Given the description of an element on the screen output the (x, y) to click on. 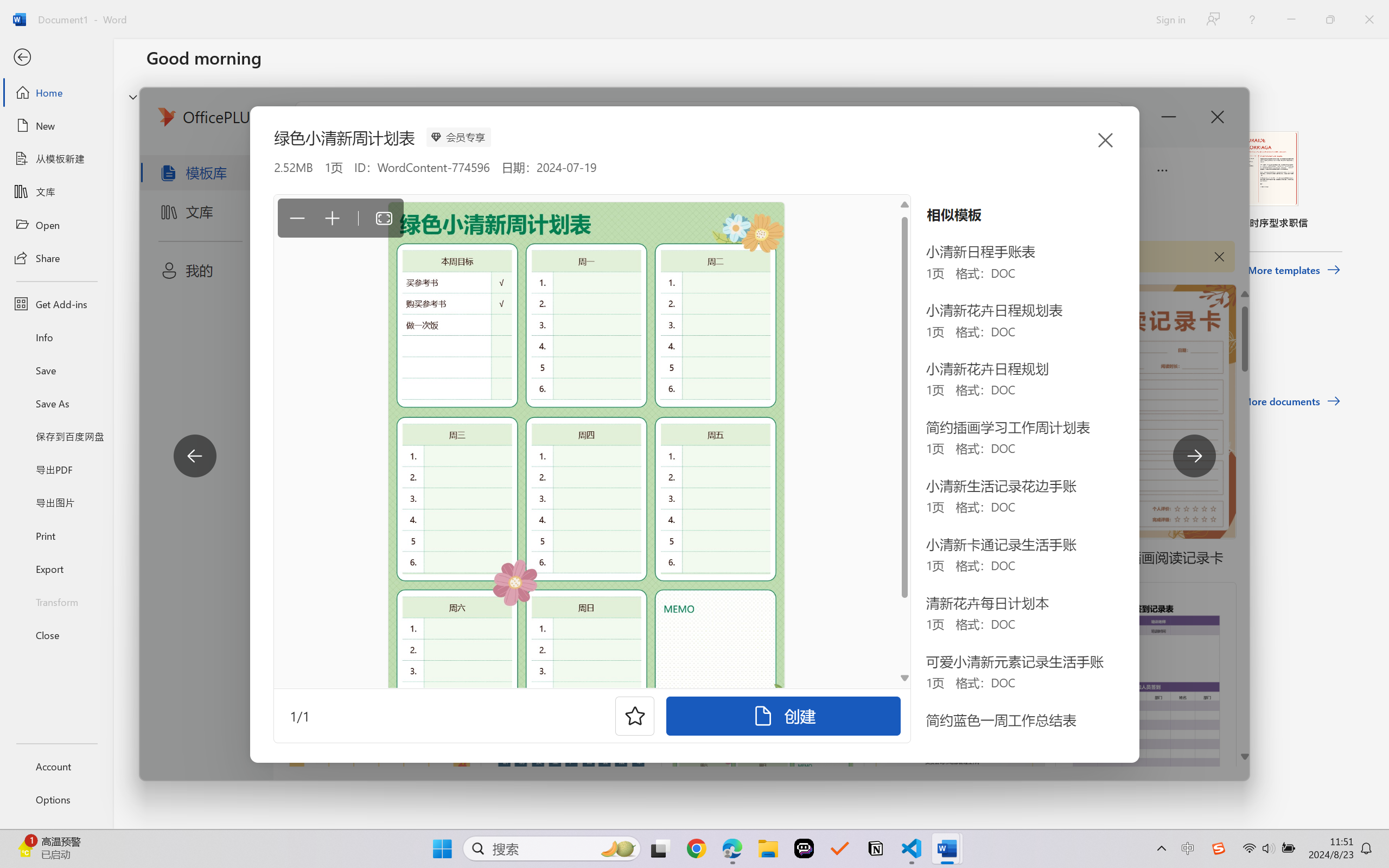
Get Add-ins (56, 303)
Export (56, 568)
